Given the description of an element on the screen output the (x, y) to click on. 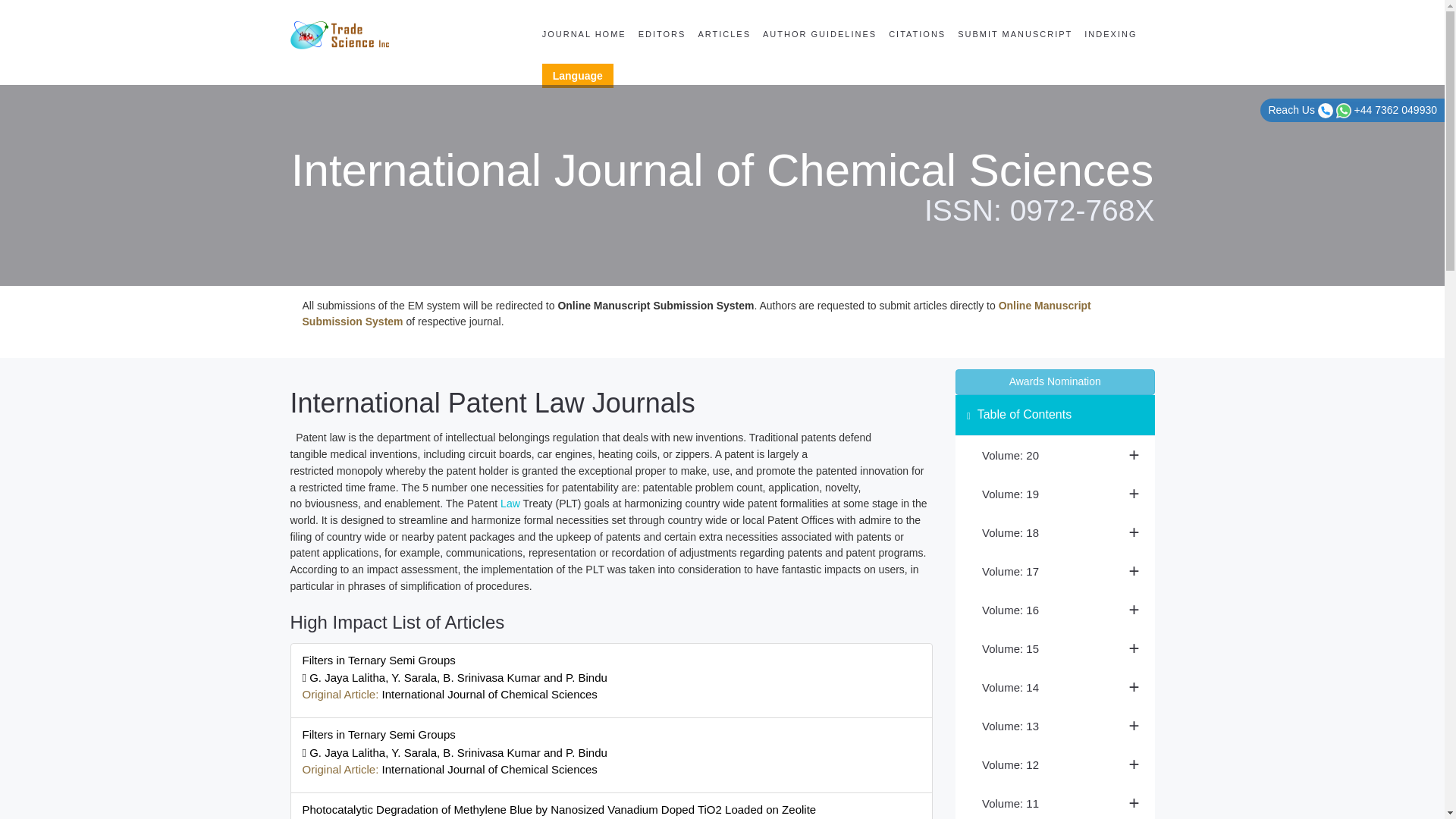
Language (576, 75)
SUBMIT MANUSCRIPT (1015, 33)
Citations (917, 33)
Trade Science Inc (338, 33)
ARTICLES (724, 33)
Journals (724, 33)
AUTHOR GUIDELINES (819, 33)
INDEXING (1110, 33)
JOURNAL HOME (583, 33)
Indexing Sevices (1110, 33)
